Given the description of an element on the screen output the (x, y) to click on. 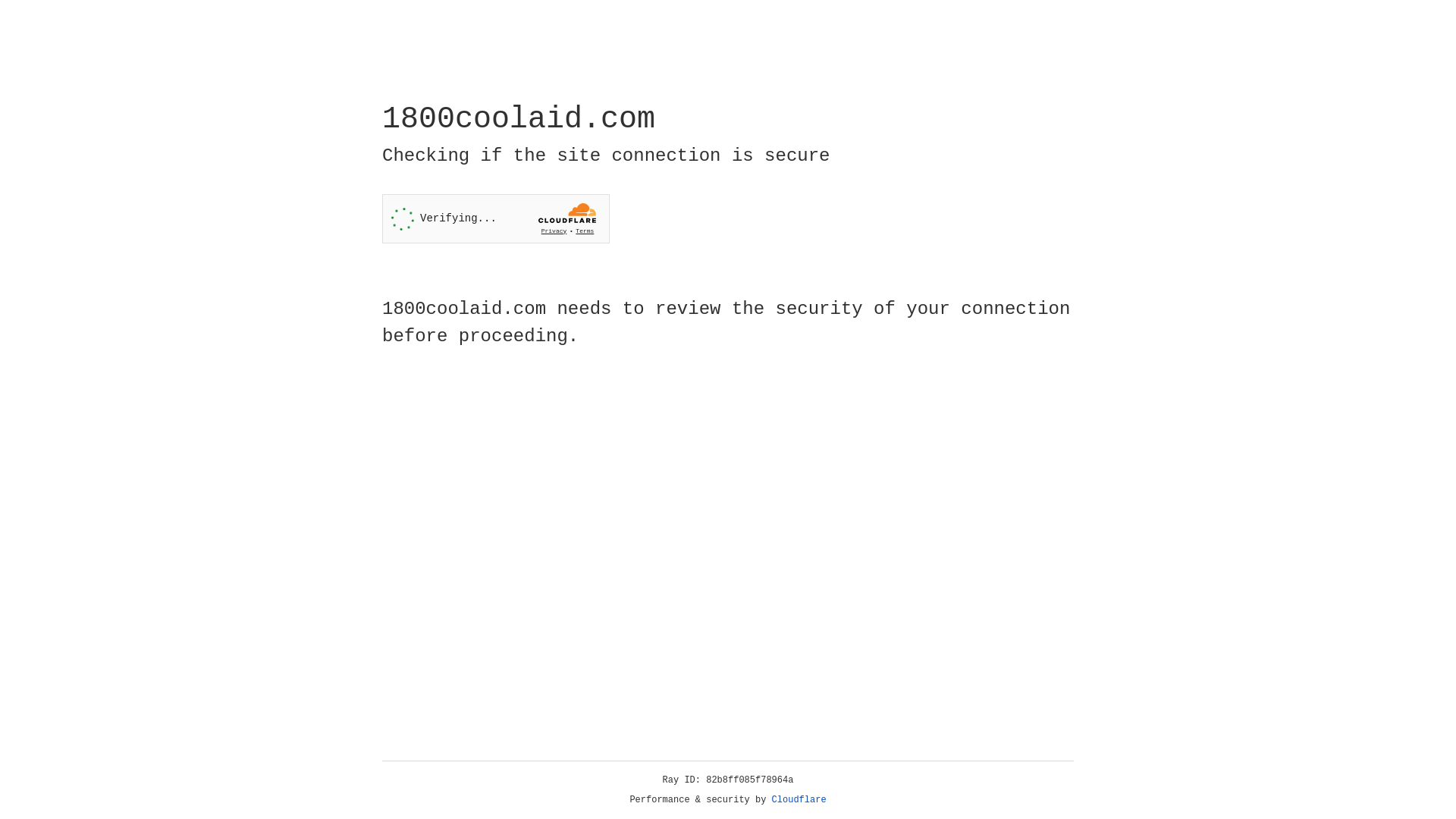
Widget containing a Cloudflare security challenge Element type: hover (495, 218)
Cloudflare Element type: text (798, 799)
